Given the description of an element on the screen output the (x, y) to click on. 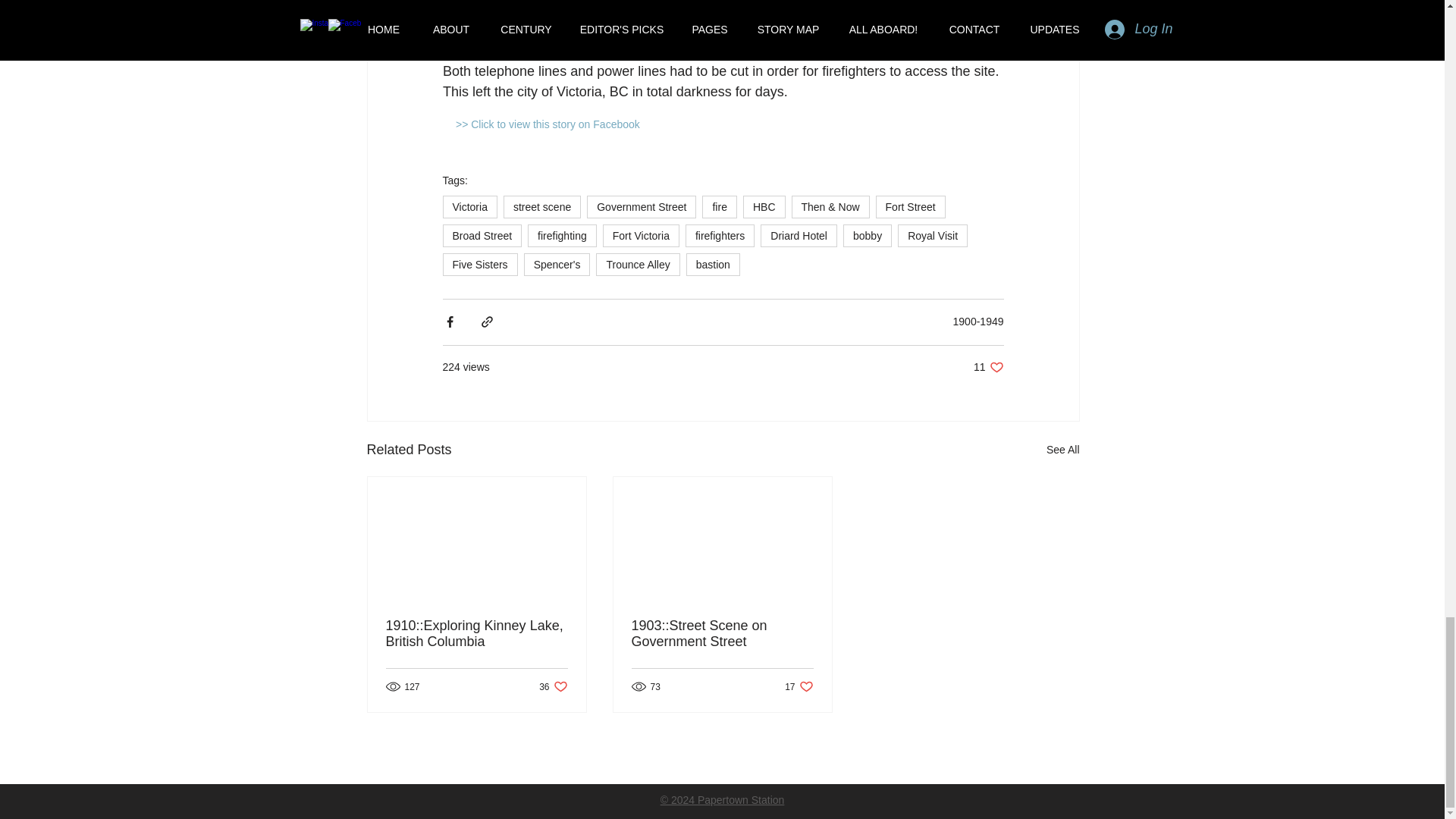
Driard Hotel (798, 235)
Government Street (640, 206)
bobby (867, 235)
Royal Visit (933, 235)
Fort Street (910, 206)
street scene (541, 206)
fire (718, 206)
Broad Street (482, 235)
firefighting (561, 235)
Trounce Alley (637, 264)
